Given the description of an element on the screen output the (x, y) to click on. 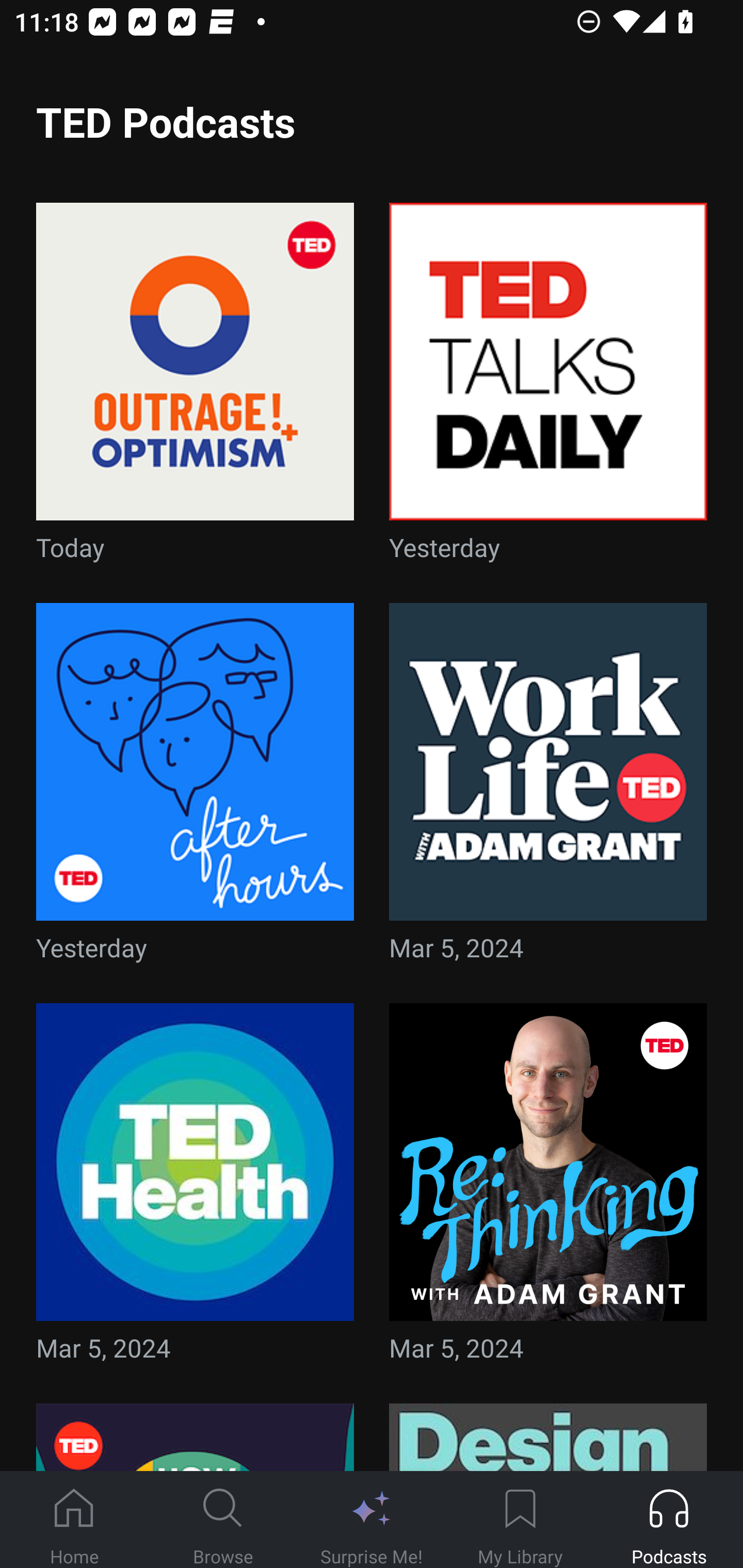
Today (194, 387)
Yesterday (547, 387)
Yesterday (194, 788)
Mar 5, 2024 (547, 788)
Mar 5, 2024 (194, 1189)
Mar 5, 2024 (547, 1189)
Home (74, 1520)
Browse (222, 1520)
Surprise Me! (371, 1520)
My Library (519, 1520)
Podcasts (668, 1520)
